Given the description of an element on the screen output the (x, y) to click on. 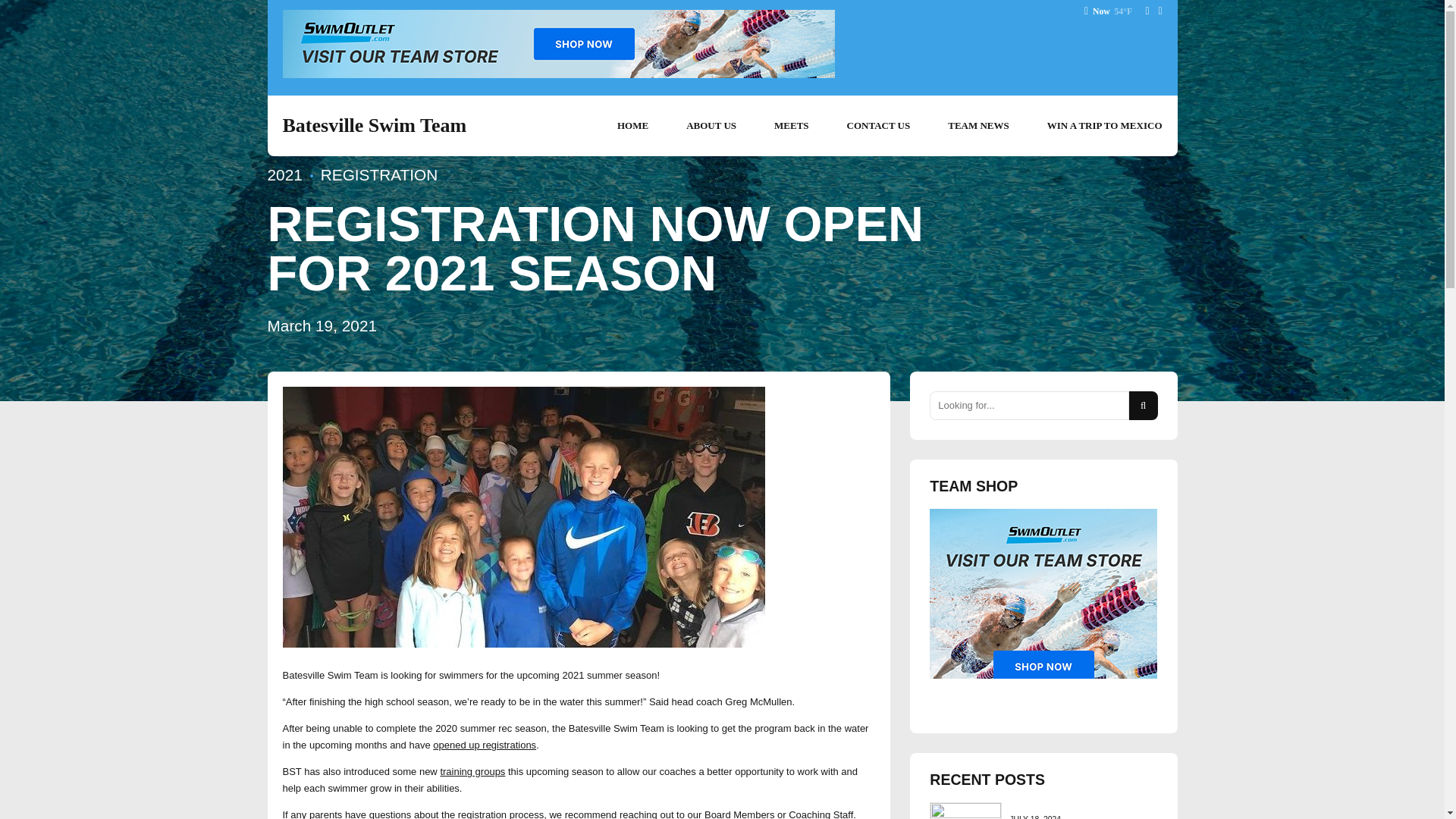
2021 (283, 174)
REGISTRATION (370, 174)
registration process (500, 814)
CONTACT US (879, 125)
opened up registrations (483, 745)
TEAM NEWS (978, 125)
Batesville Swim Team (373, 125)
Board Members or Coaching Staff (778, 814)
training groups (472, 771)
